Given the description of an element on the screen output the (x, y) to click on. 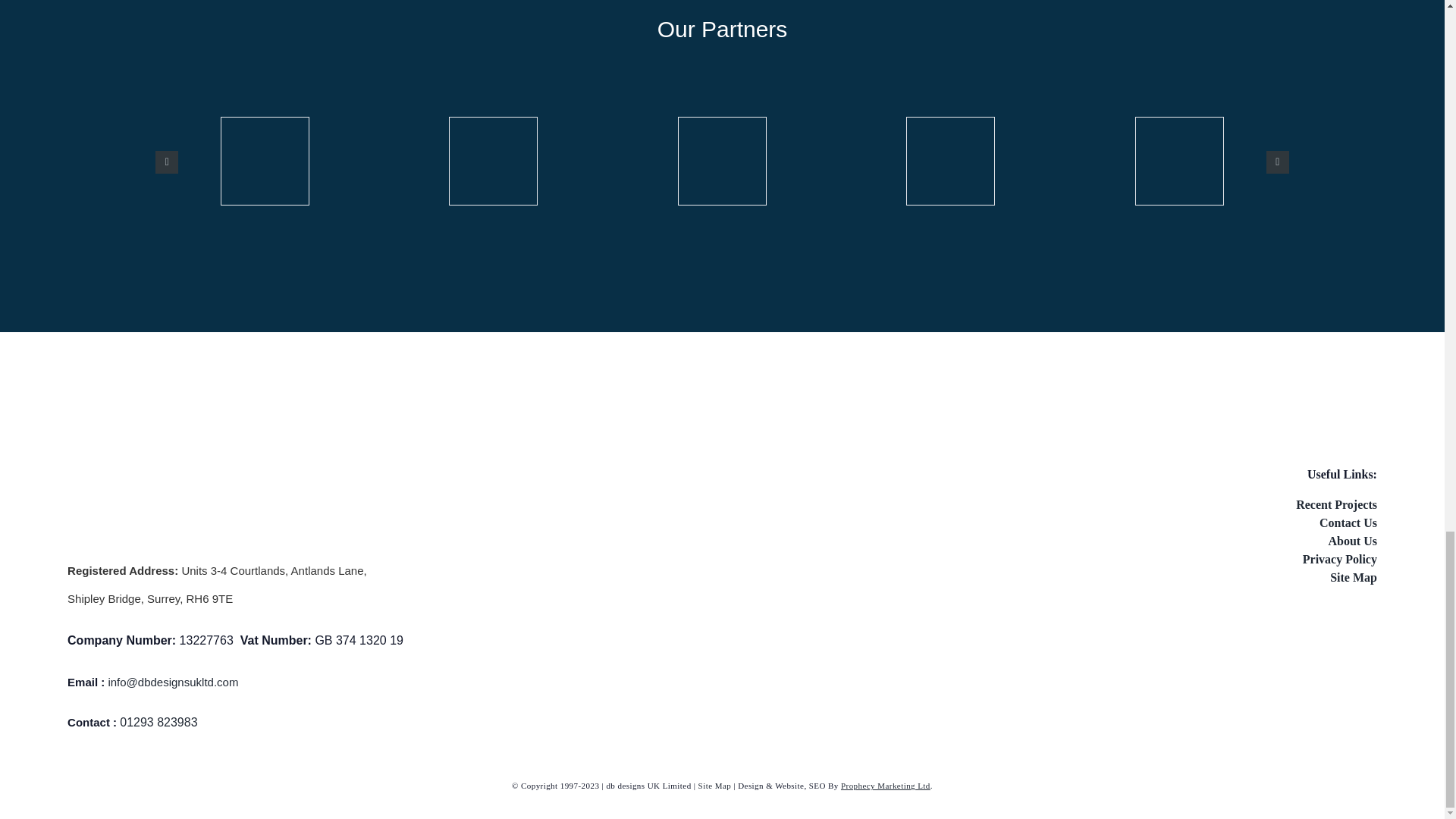
About Us 4 (493, 160)
About Us 7 (1179, 160)
About Us 5 (721, 160)
About Us 6 (950, 160)
About Us 3 (264, 160)
